Given the description of an element on the screen output the (x, y) to click on. 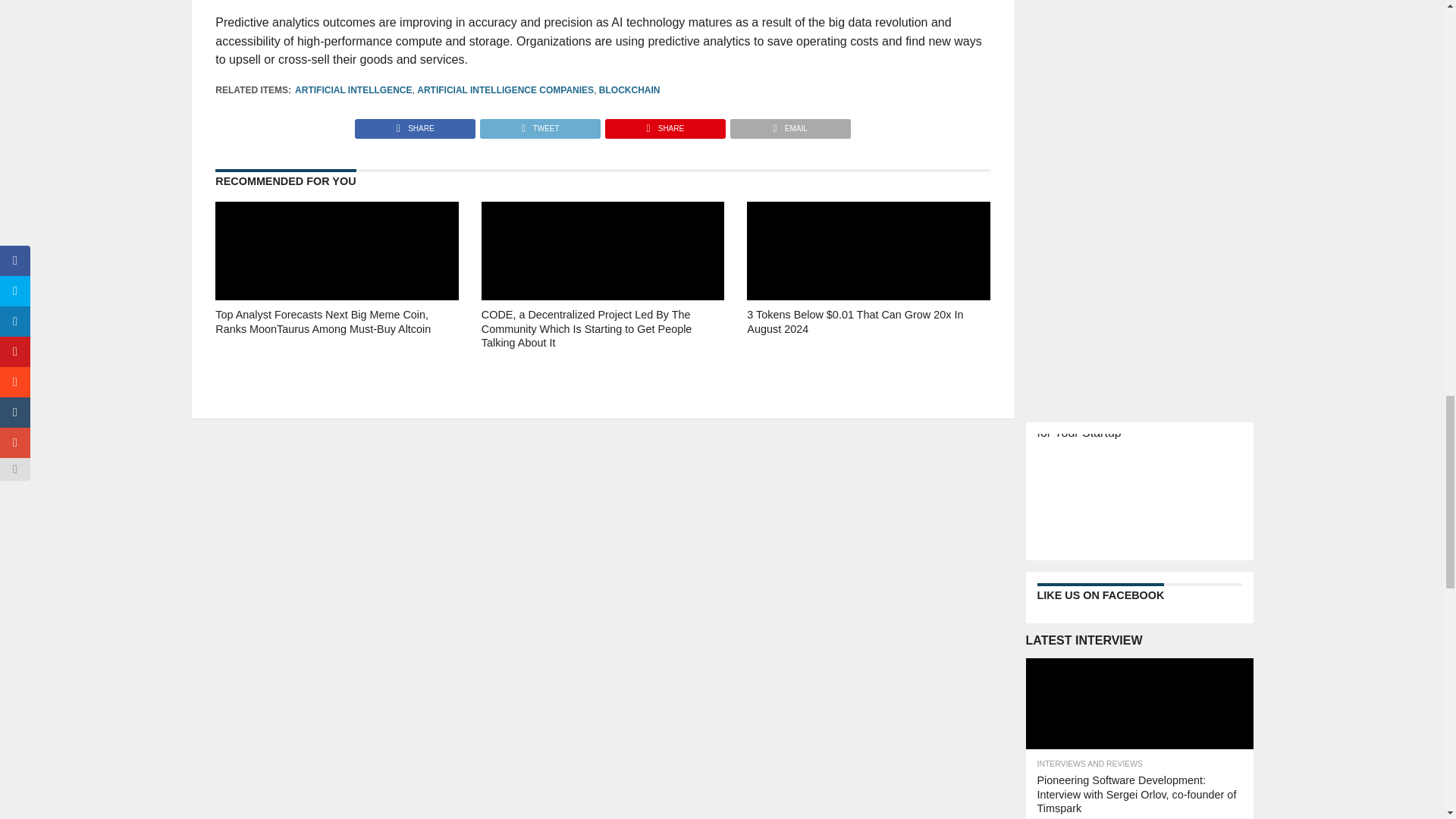
Tweet This Post (539, 124)
Share on Facebook (415, 124)
Pin This Post (664, 124)
